Given the description of an element on the screen output the (x, y) to click on. 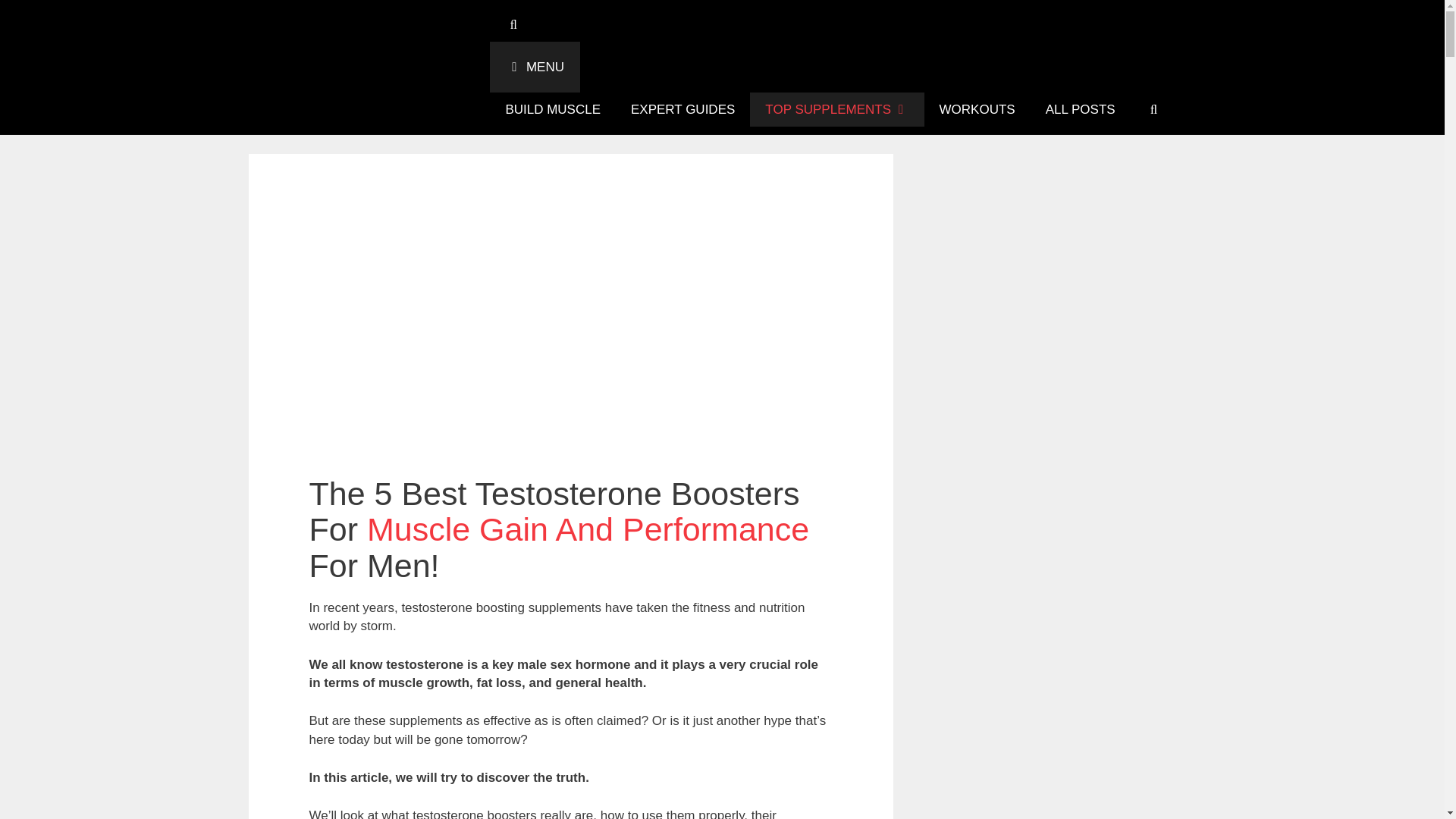
EXPERT GUIDES (682, 109)
BUILD MUSCLE (552, 109)
ALL POSTS (1080, 109)
TOP SUPPLEMENTS (836, 109)
WORKOUTS (977, 109)
MENU (534, 66)
